Given the description of an element on the screen output the (x, y) to click on. 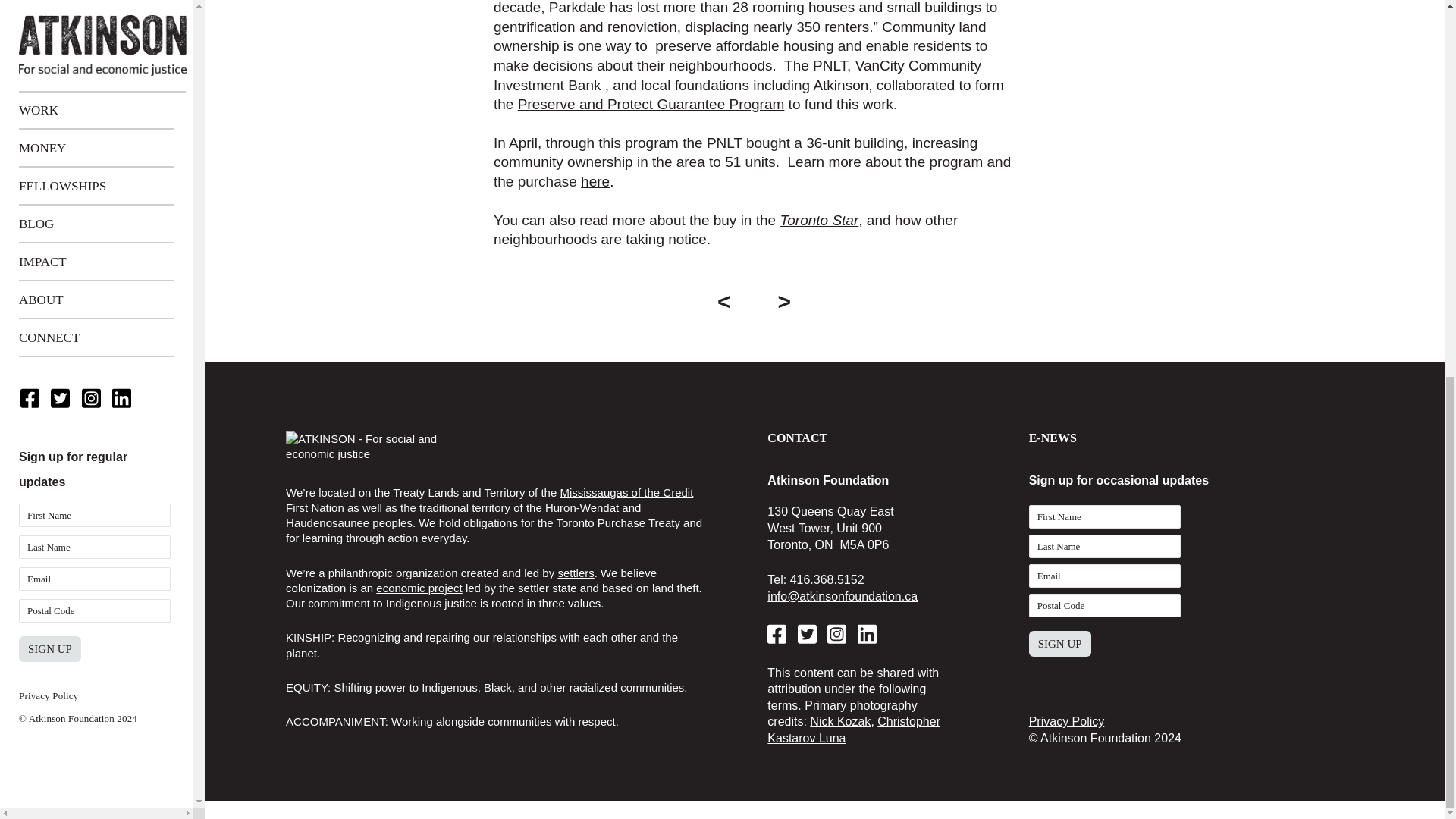
Postal Code (1104, 605)
Preserve and Protect Guarantee Program (651, 104)
Privacy Policy (48, 2)
Last Name (1104, 545)
Last Name (1104, 545)
Postal Code (1104, 605)
settlers (575, 572)
economic project (418, 587)
Sign Up (1059, 643)
Mississaugas of the Credit (626, 492)
